Given the description of an element on the screen output the (x, y) to click on. 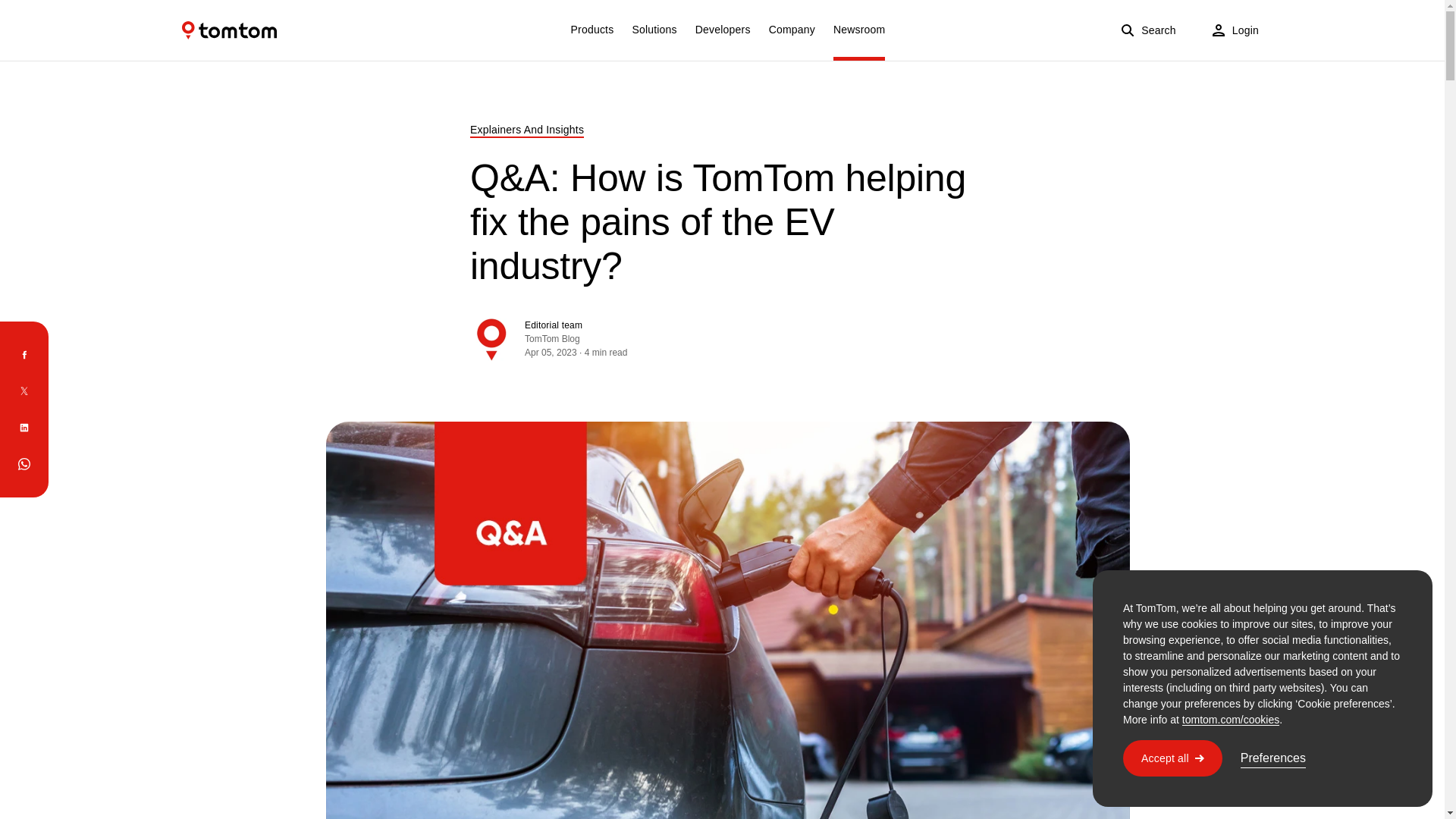
Search (1148, 30)
Login (1235, 30)
Explainers And Insights (526, 129)
